Given the description of an element on the screen output the (x, y) to click on. 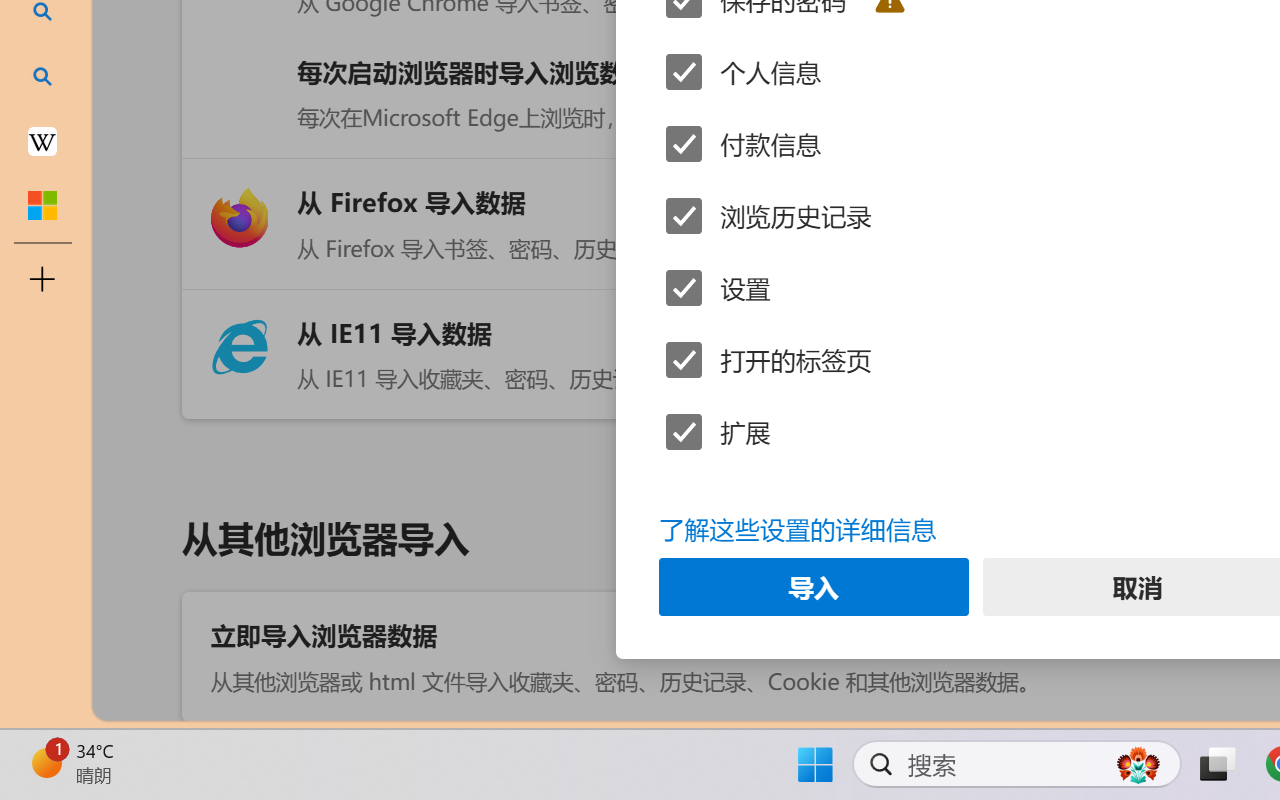
Earth - Wikipedia (42, 140)
